Given the description of an element on the screen output the (x, y) to click on. 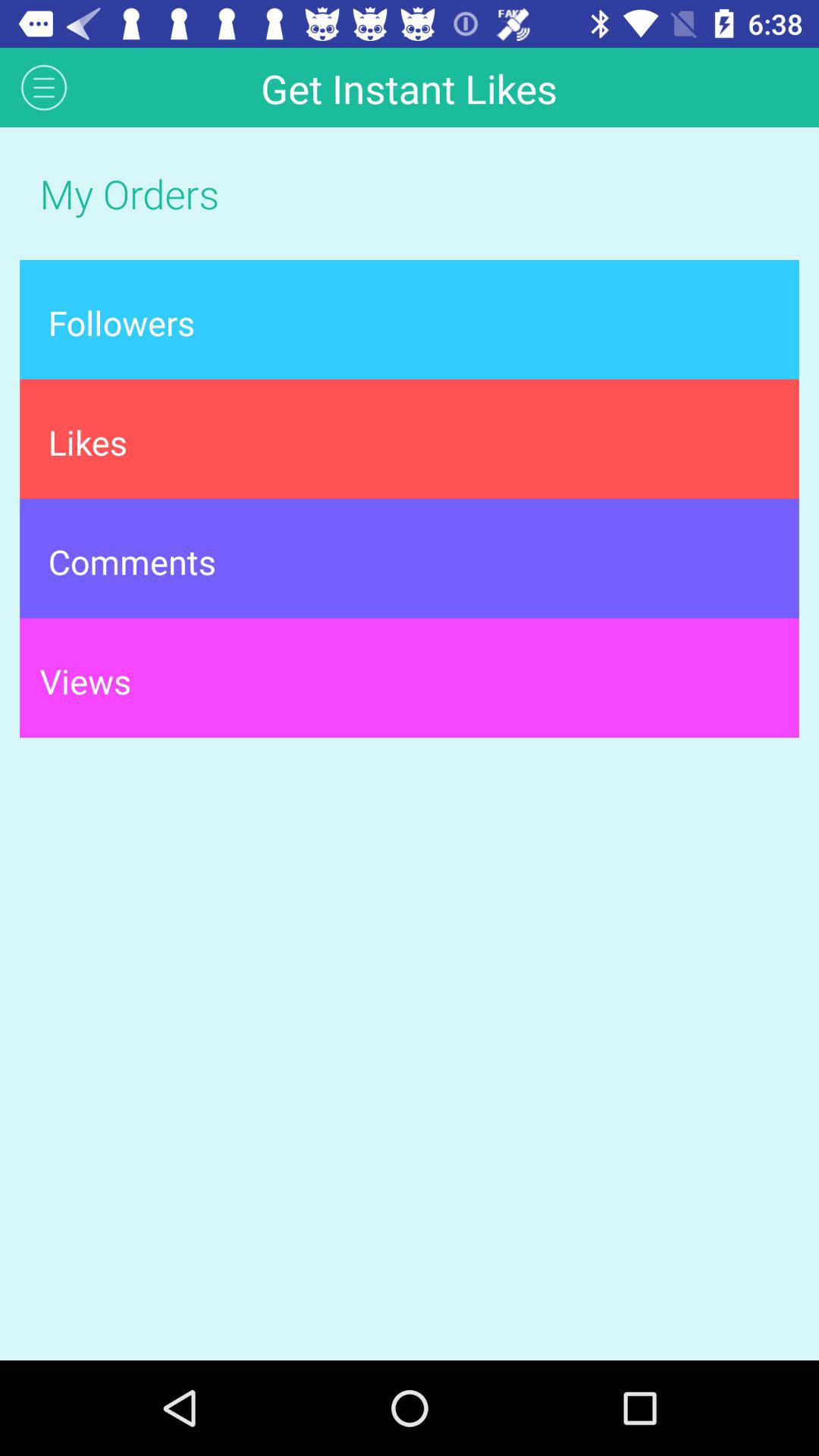
turn off the icon above the views (409, 558)
